Given the description of an element on the screen output the (x, y) to click on. 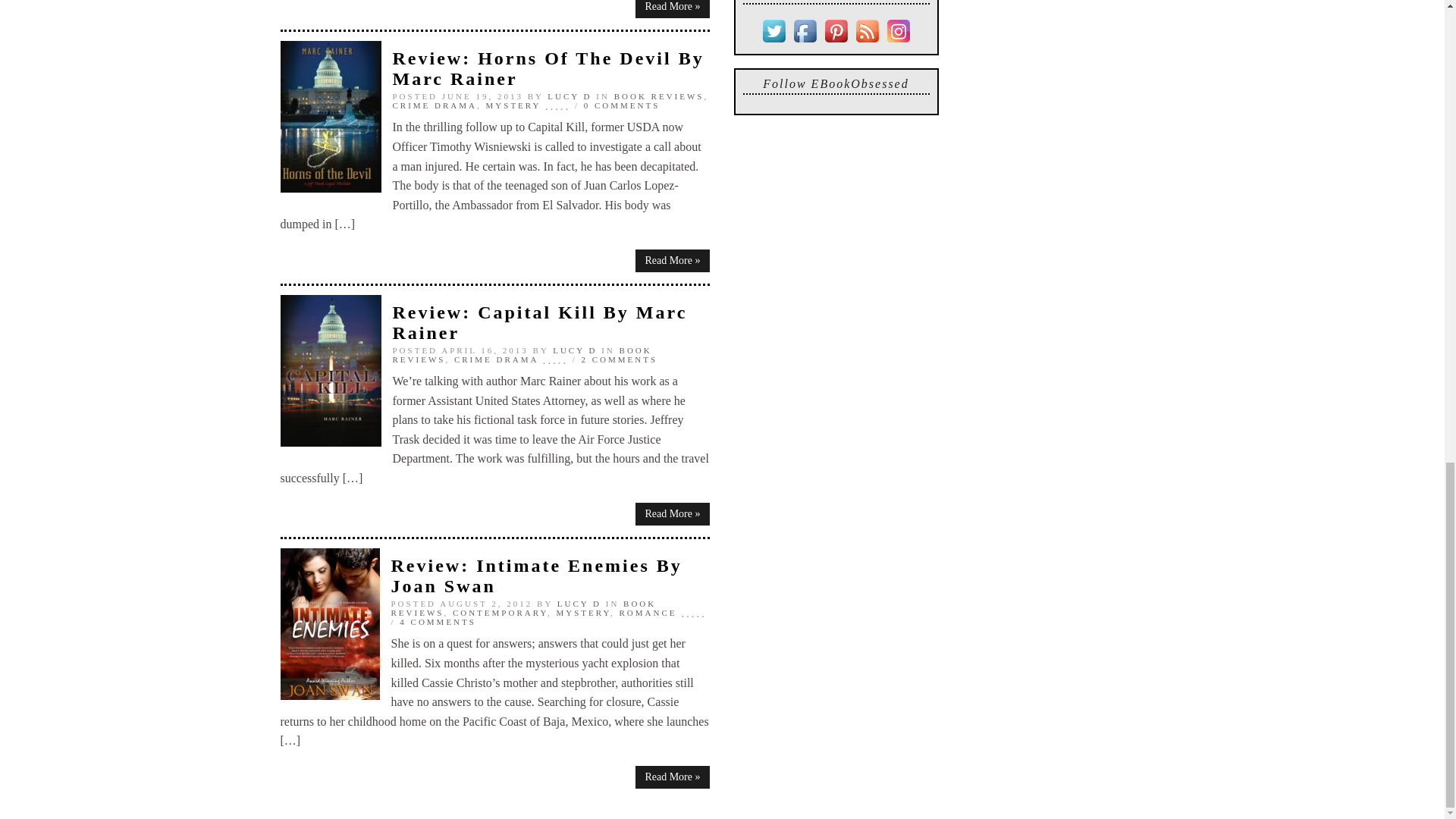
View all posts in Book Reviews (659, 95)
View all posts in Mystery (513, 104)
View all posts in Crime Drama (435, 104)
View all posts in Book Reviews (522, 354)
